Given the description of an element on the screen output the (x, y) to click on. 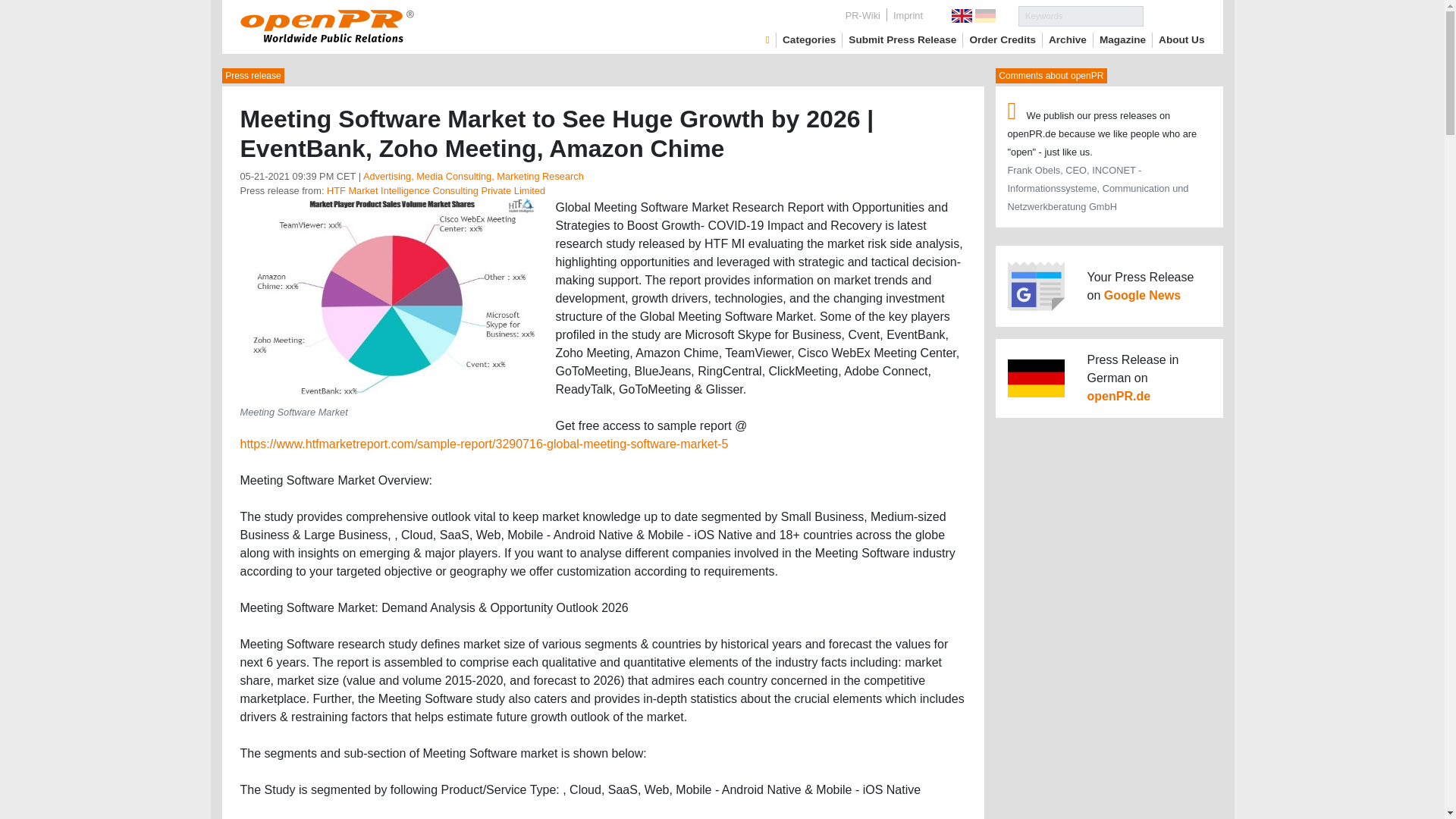
Search   (1173, 15)
Advertising, Media Consulting, Marketing Research (472, 175)
Imprint (907, 15)
PR-Wiki (863, 15)
Magazine (1122, 39)
Order Credits (1002, 39)
Categories (809, 39)
About Us (1181, 39)
Meeting Software Market (391, 297)
